Given the description of an element on the screen output the (x, y) to click on. 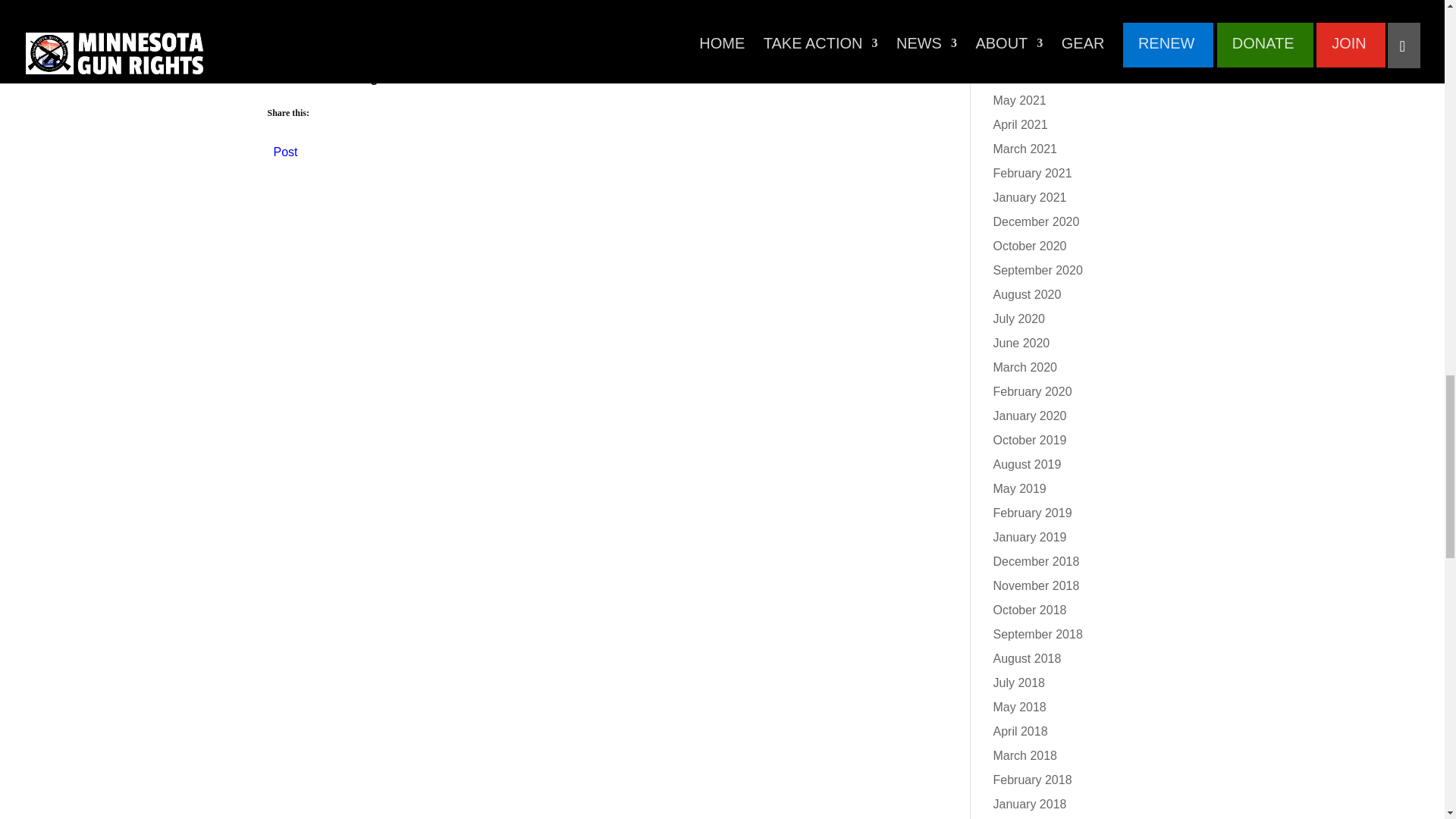
Post (285, 149)
